Given the description of an element on the screen output the (x, y) to click on. 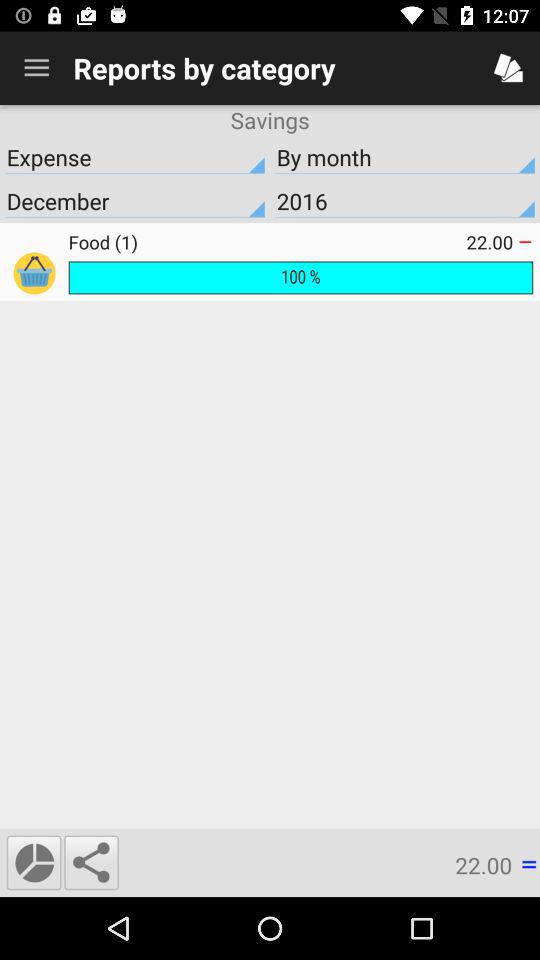
show as a pie chart (33, 862)
